Given the description of an element on the screen output the (x, y) to click on. 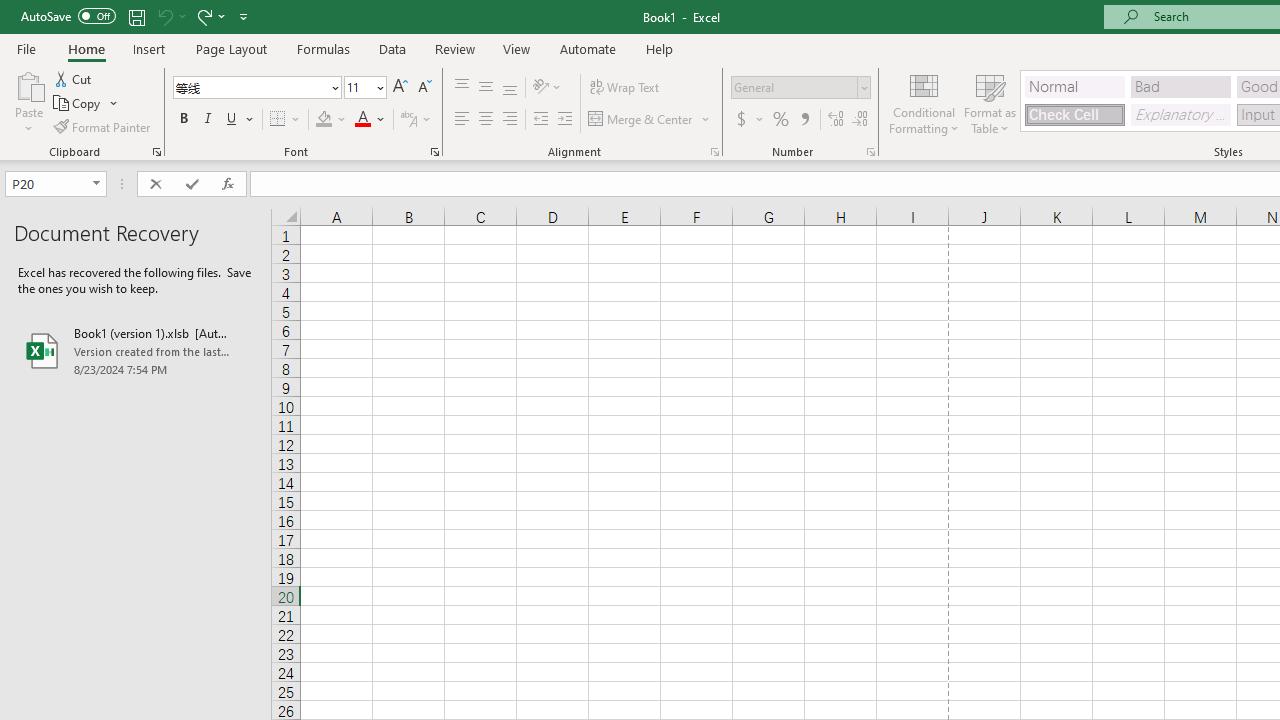
Align Left (461, 119)
Italic (207, 119)
